Given the description of an element on the screen output the (x, y) to click on. 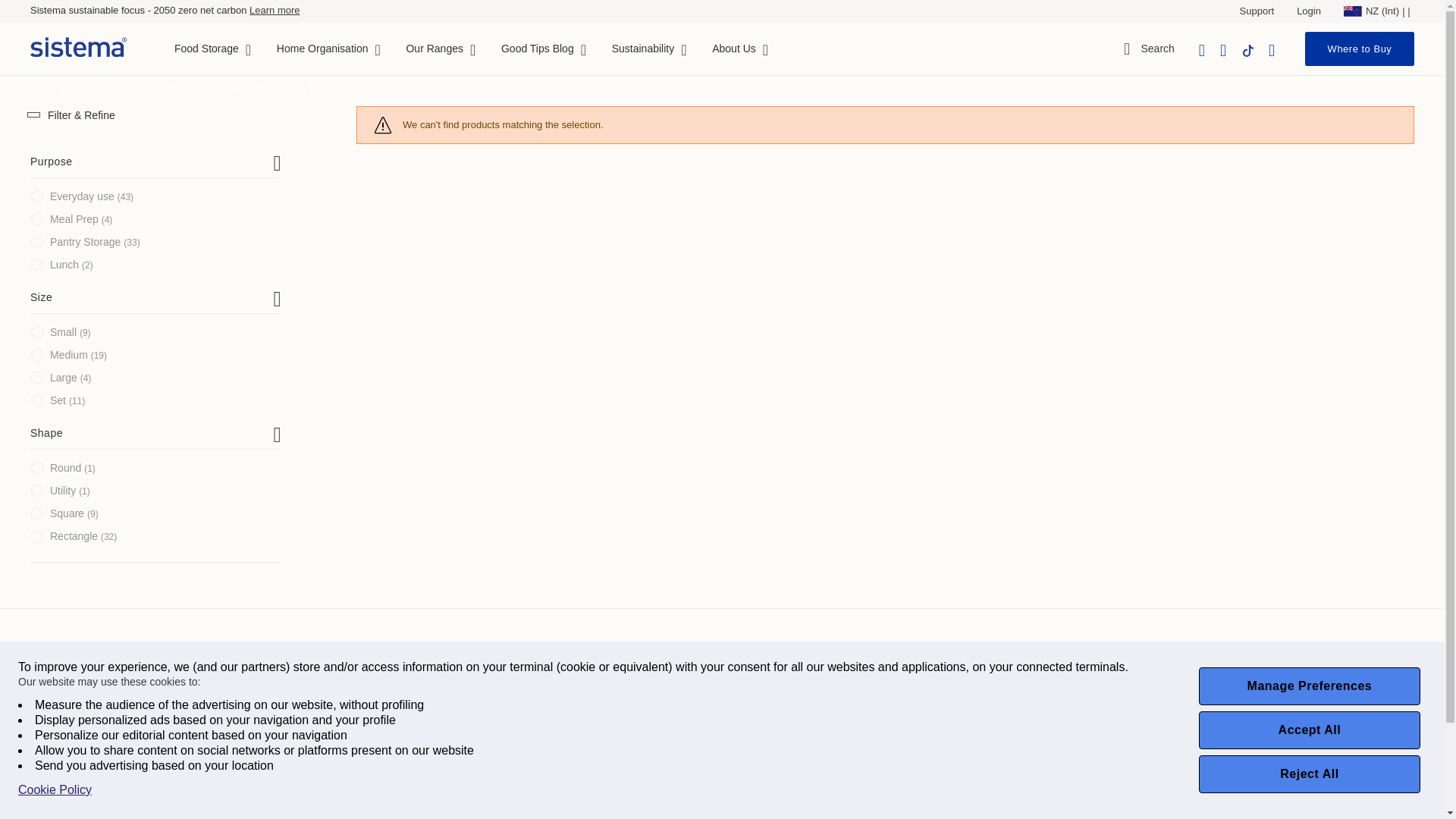
Food Storage (206, 48)
Manage Preferences (1309, 686)
Reject All (1309, 774)
Login (1308, 10)
Accept All (1309, 730)
